Given the description of an element on the screen output the (x, y) to click on. 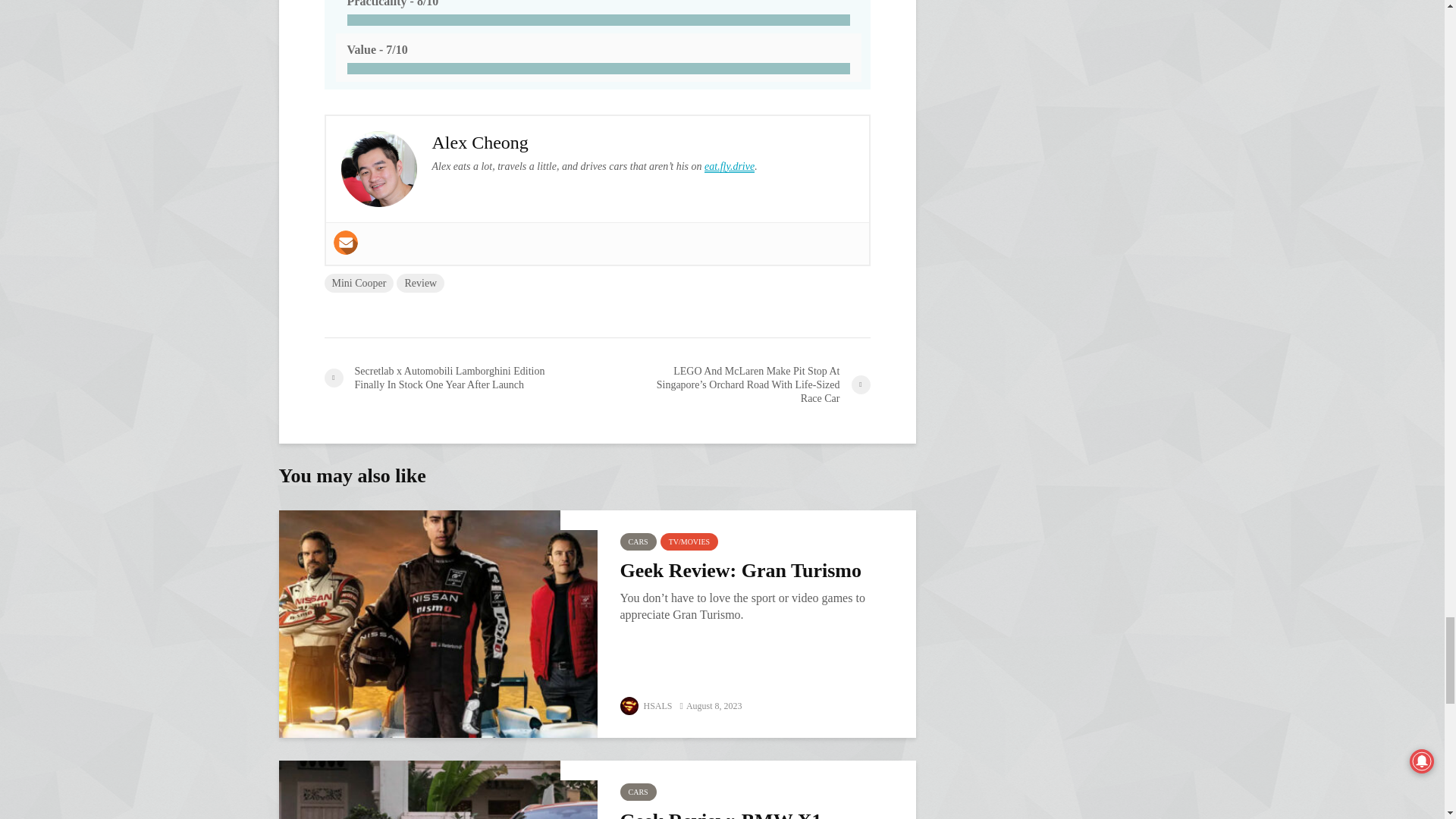
Geek Review: BMW X1 sDrive16i xLine (437, 789)
Geek Review: Gran Turismo (437, 623)
User email (345, 242)
